Given the description of an element on the screen output the (x, y) to click on. 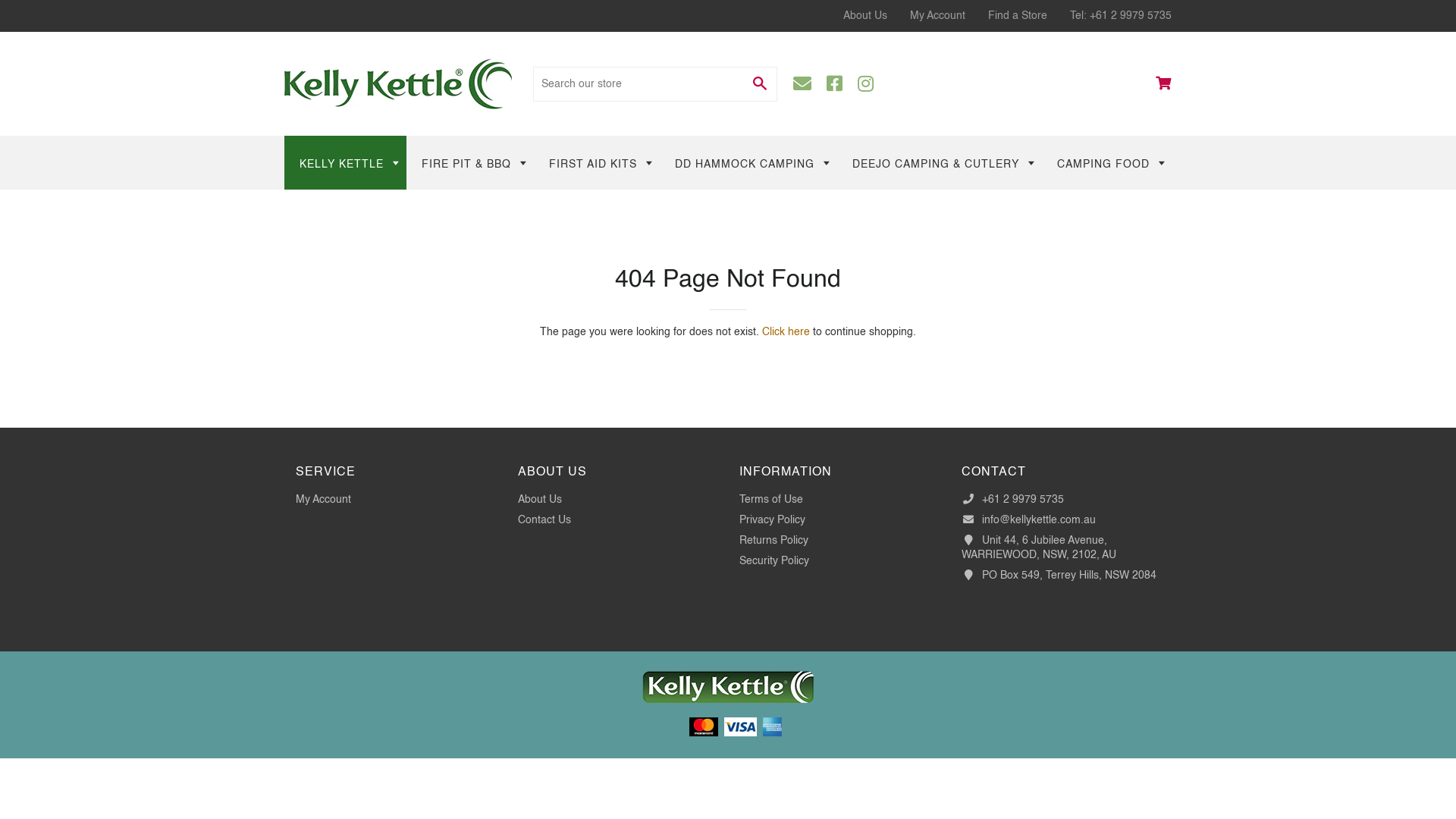
DD HAMMOCK CAMPING Element type: text (748, 162)
Contact Us Element type: text (543, 519)
My Account Element type: text (937, 15)
FIRE PIT & BBQ Element type: text (469, 162)
  +61 2 9979 5735 Element type: text (1012, 499)
Security Policy Element type: text (774, 560)
Search Element type: text (759, 83)
Returns Policy Element type: text (773, 540)
  Unit 44, 6 Jubilee Avenue, WARRIEWOOD, NSW, 2102, AU Element type: text (1038, 547)
Terms of Use Element type: text (771, 499)
About Us Element type: text (865, 15)
  PO Box 549, Terrey Hills, NSW 2084 Element type: text (1058, 575)
Privacy Policy Element type: text (772, 519)
CART Element type: text (1163, 83)
Click here Element type: text (785, 331)
KELLY KETTLE Element type: text (345, 162)
DEEJO CAMPING & CUTLERY Element type: text (939, 162)
My Account Element type: text (323, 499)
Find a Store Element type: text (1017, 15)
FIRST AID KITS Element type: text (596, 162)
CAMPING FOOD Element type: text (1106, 162)
  info@kellykettle.com.au Element type: text (1028, 519)
Tel: +61 2 9979 5735 Element type: text (1120, 15)
About Us Element type: text (539, 499)
